Given the description of an element on the screen output the (x, y) to click on. 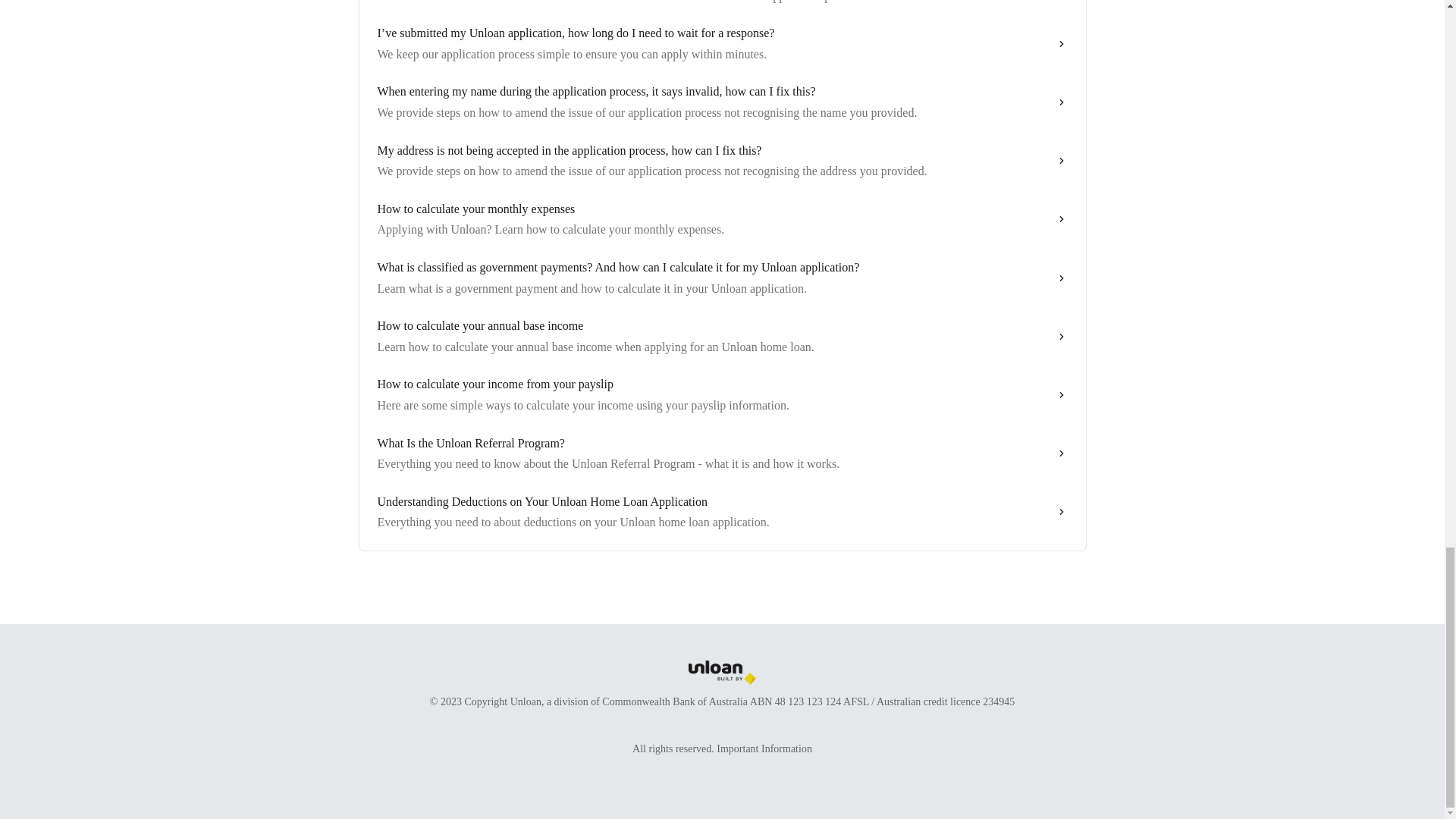
All rights reserved. Important Information (721, 748)
